Given the description of an element on the screen output the (x, y) to click on. 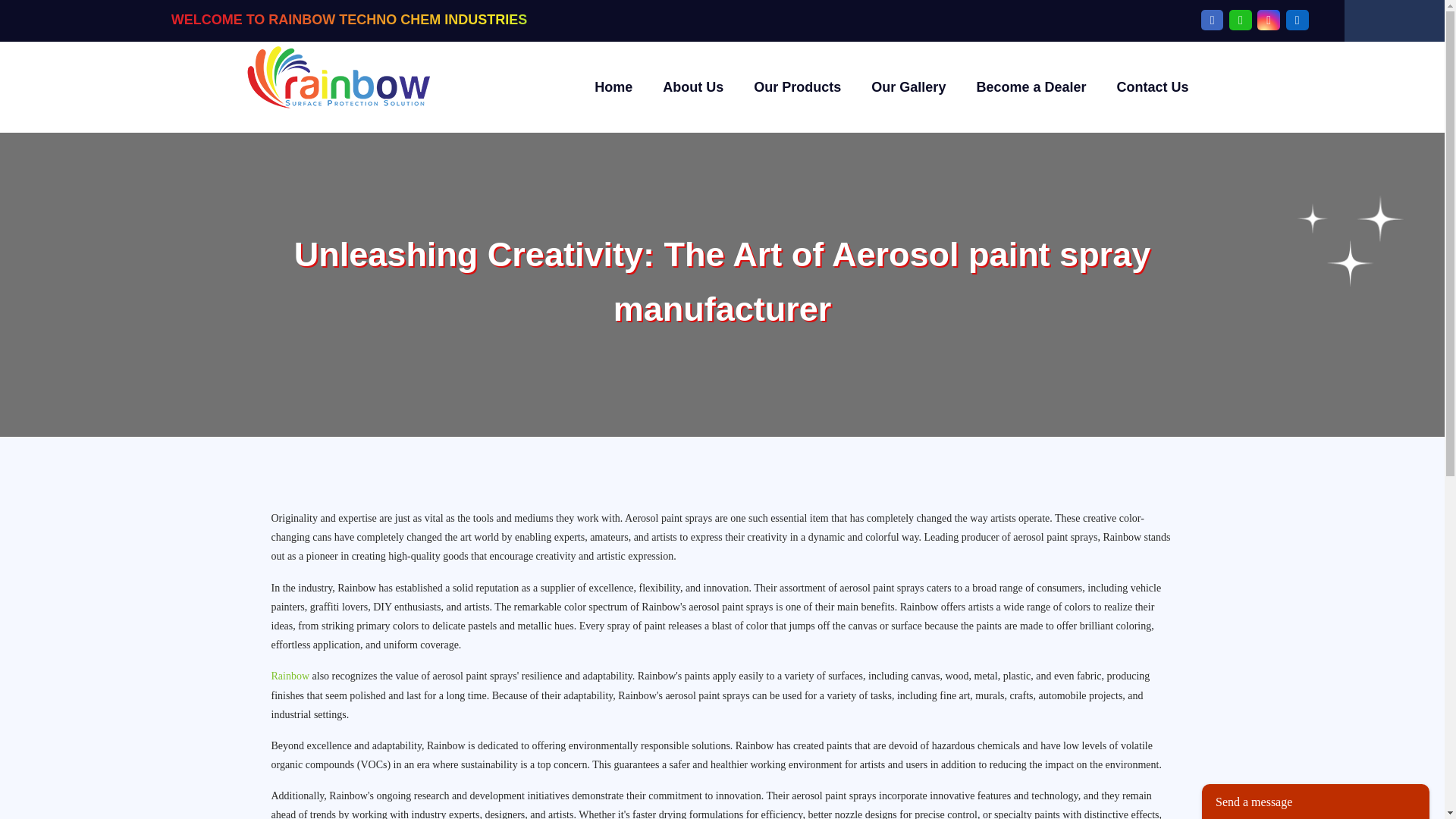
Our Products (797, 86)
Rainbow (291, 675)
Become a Dealer (1030, 86)
